Given the description of an element on the screen output the (x, y) to click on. 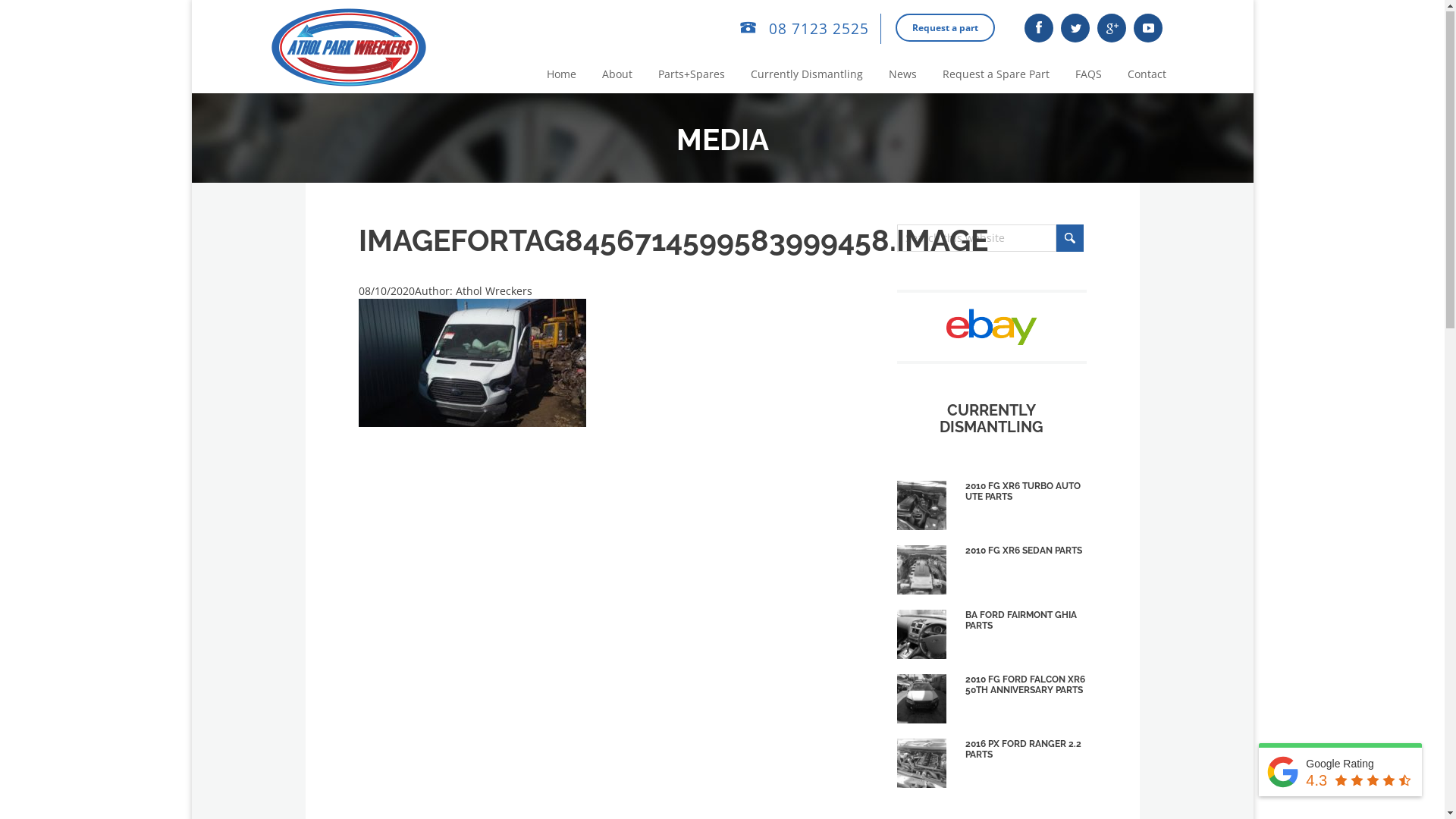
Search Element type: text (1068, 239)
2010 FG XR6 TURBO AUTO UTE PARTS Element type: hover (920, 506)
FAQS Element type: text (1088, 75)
About Element type: text (617, 75)
2010 FG XR6 SEDAN PARTS Element type: hover (920, 571)
2010 FG FORD FALCON XR6 50TH ANNIVERSARY PARTS Element type: hover (920, 699)
Facebook Element type: text (1037, 29)
Request a Spare Part Element type: text (994, 75)
Parts+Spares Element type: text (691, 75)
08 7123 2525 Element type: text (801, 30)
BA  FORD FAIRMONT GHIA PARTS Element type: hover (920, 635)
Home Element type: text (560, 75)
2016 PX FORD RANGER 2.2 PARTS Element type: hover (920, 764)
Request a part Element type: text (944, 29)
YouTube Element type: text (1146, 29)
Twitter Element type: text (1074, 29)
Contact Element type: text (1145, 75)
Currently Dismantling Element type: text (806, 75)
Athol Park Ford Wreckers Element type: hover (348, 48)
Google+ Element type: text (1110, 29)
News Element type: text (902, 75)
